Given the description of an element on the screen output the (x, y) to click on. 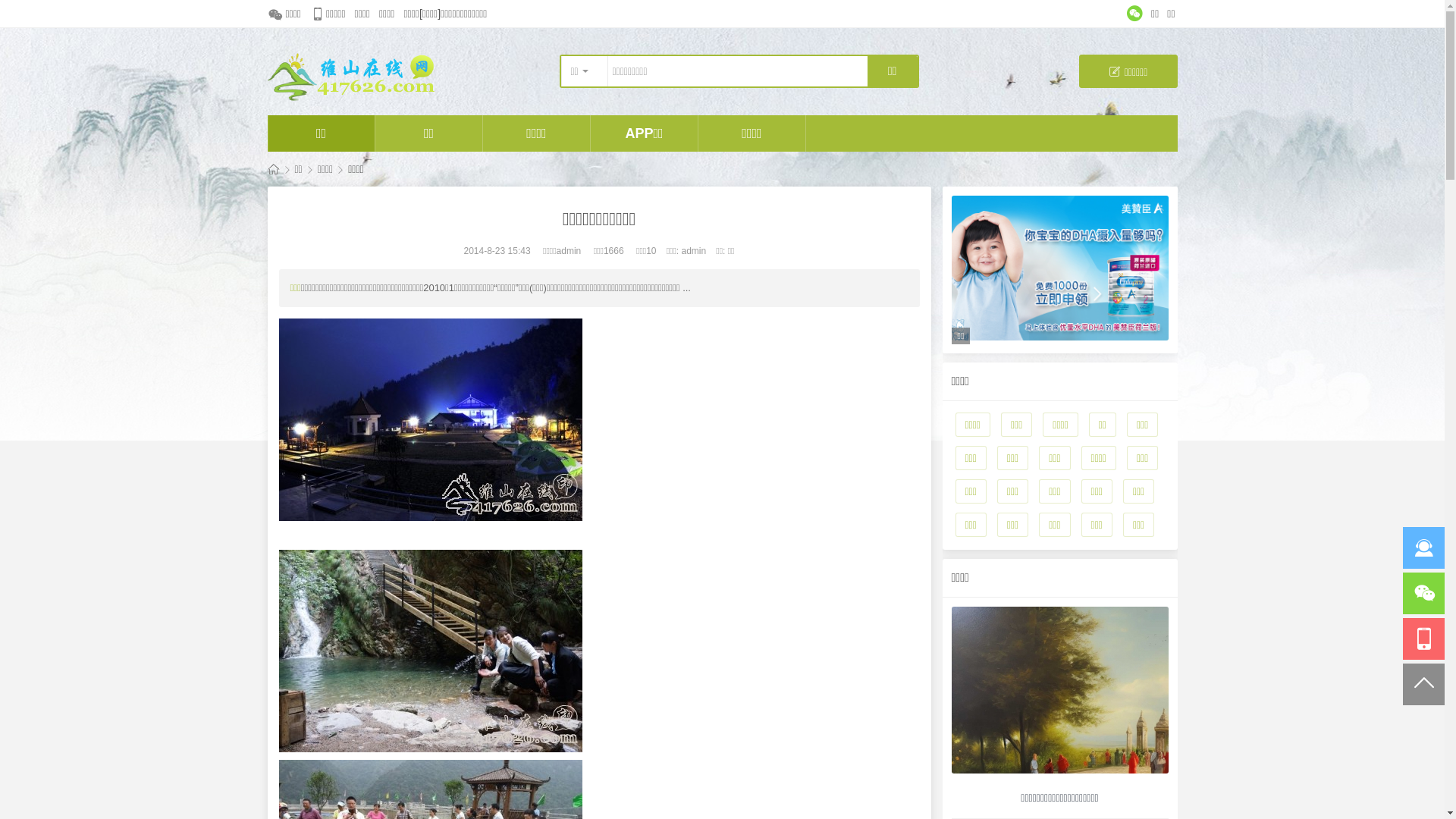
admin Element type: text (568, 250)
10 Element type: text (650, 250)
